Given the description of an element on the screen output the (x, y) to click on. 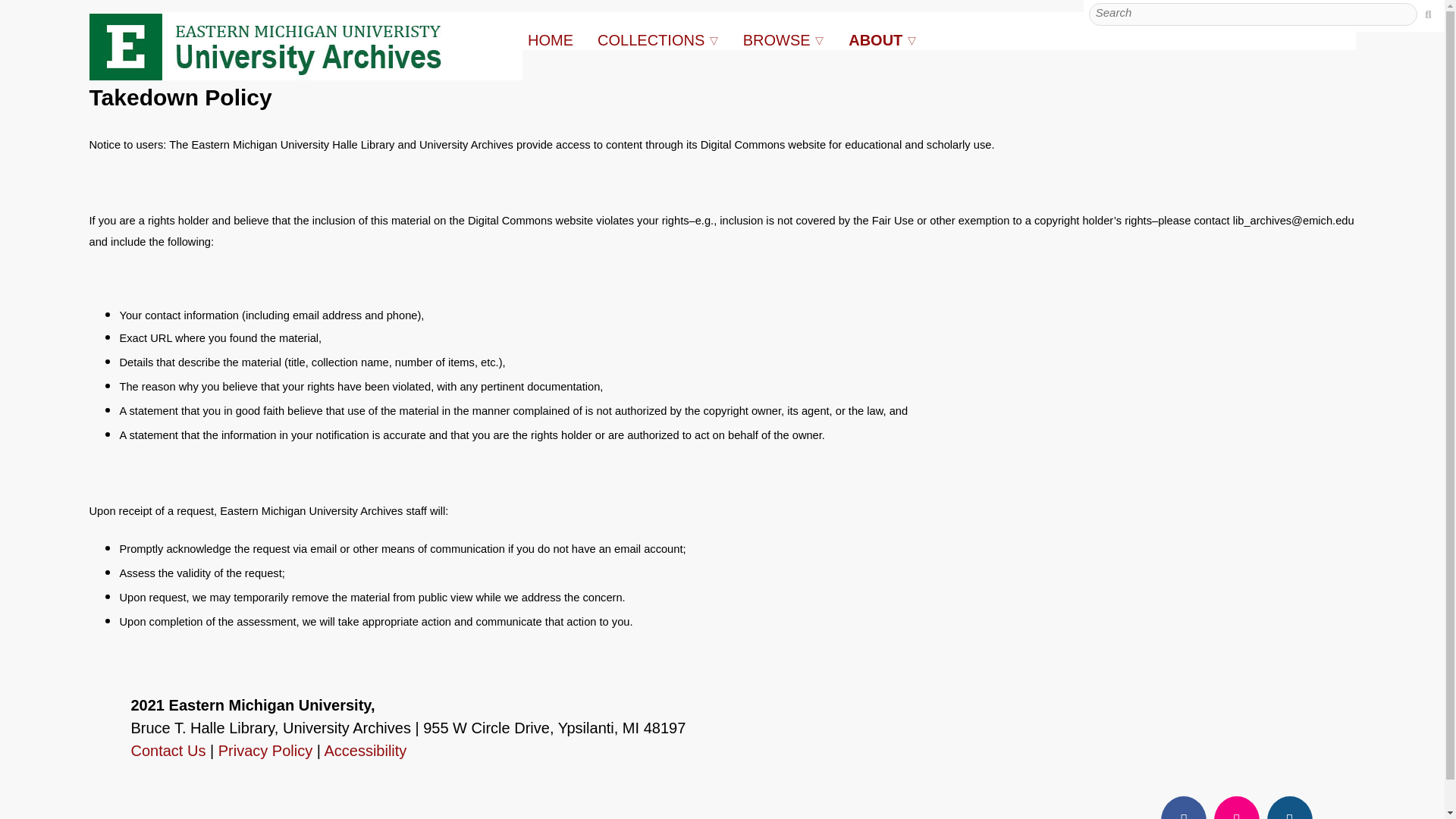
HOME (550, 39)
Search (1427, 14)
COLLECTIONS (652, 39)
BROWSE (777, 39)
